Given the description of an element on the screen output the (x, y) to click on. 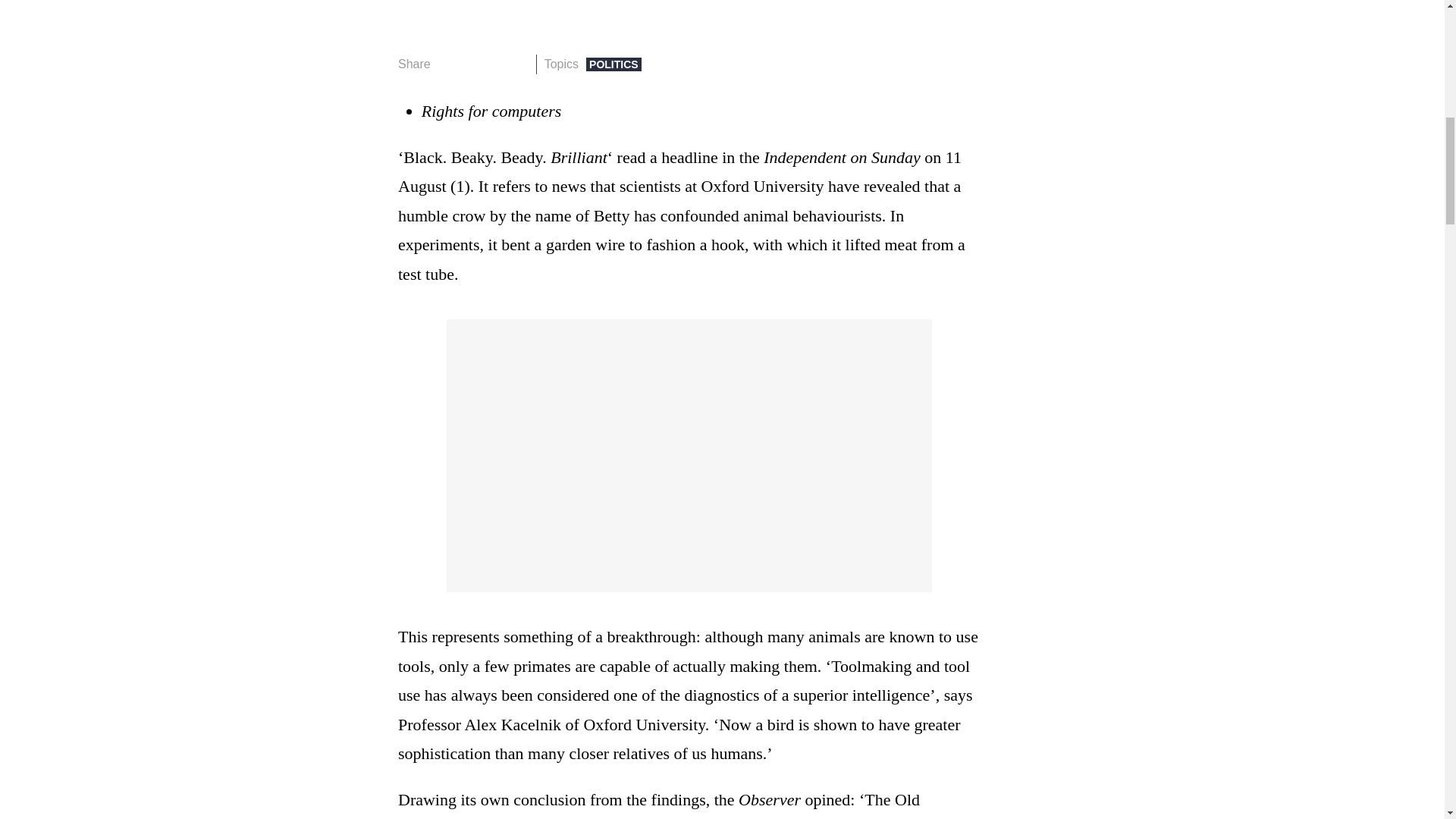
Share on Twitter (471, 64)
Share on Facebook (448, 64)
Share on Whatsapp (494, 64)
Share on Email (518, 64)
